Given the description of an element on the screen output the (x, y) to click on. 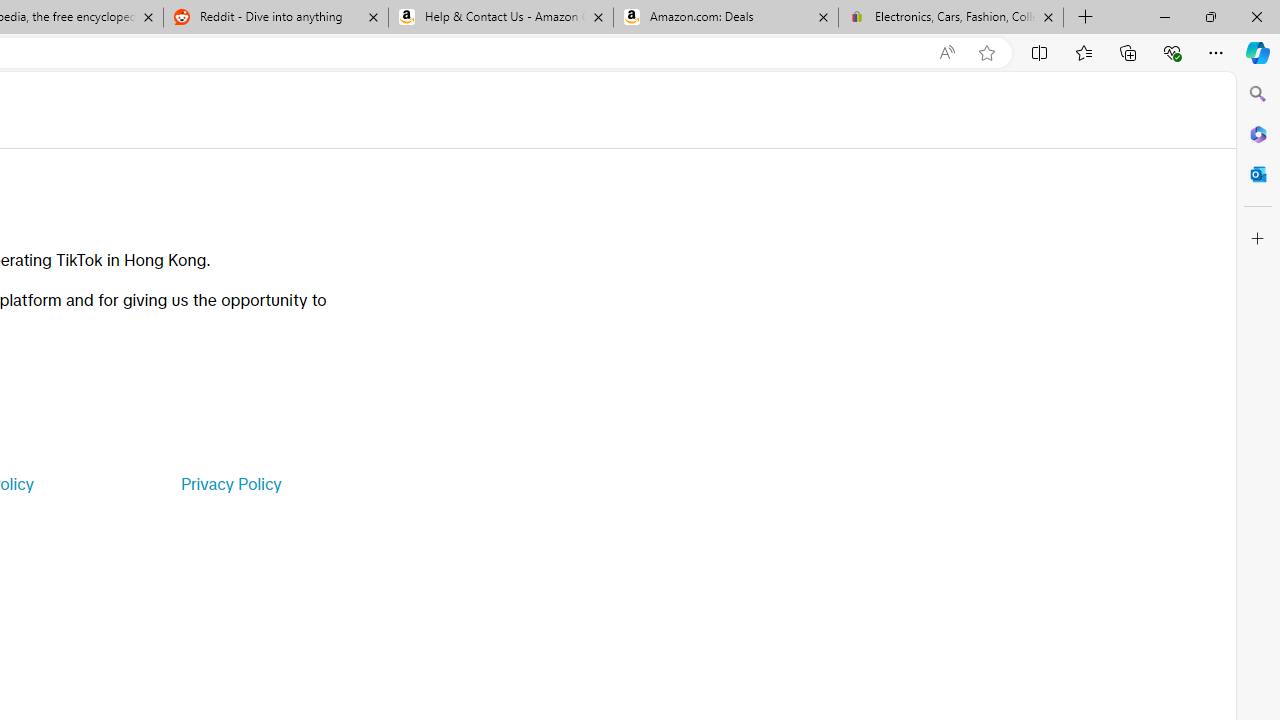
Amazon.com: Deals (726, 17)
Help & Contact Us - Amazon Customer Service (501, 17)
Privacy Policy (230, 484)
